Given the description of an element on the screen output the (x, y) to click on. 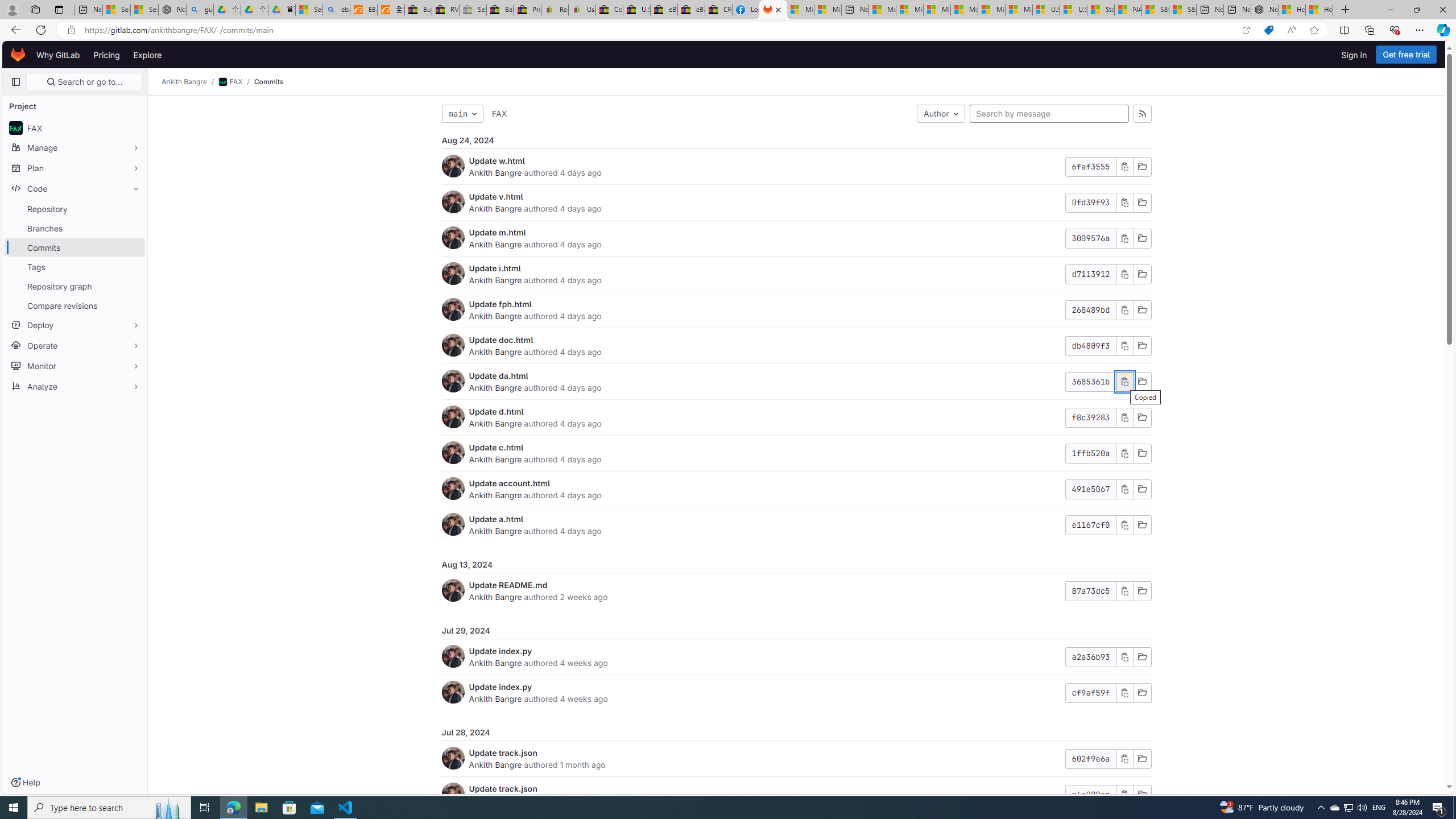
Explore (146, 54)
Update README.mdAnkith Bangre authored 2 weeks ago87a73dc5 (796, 590)
Buy Auto Parts & Accessories | eBay (418, 9)
FAX/ (236, 81)
Tags (74, 266)
Update fph.htmlAnkith Bangre authored 4 days ago268489bd (796, 310)
Repository (74, 208)
Update m.htmlAnkith Bangre authored 4 days ago3009576a (796, 238)
avatar (15, 128)
Manage (74, 147)
Commits (268, 81)
Explore (146, 54)
